Given the description of an element on the screen output the (x, y) to click on. 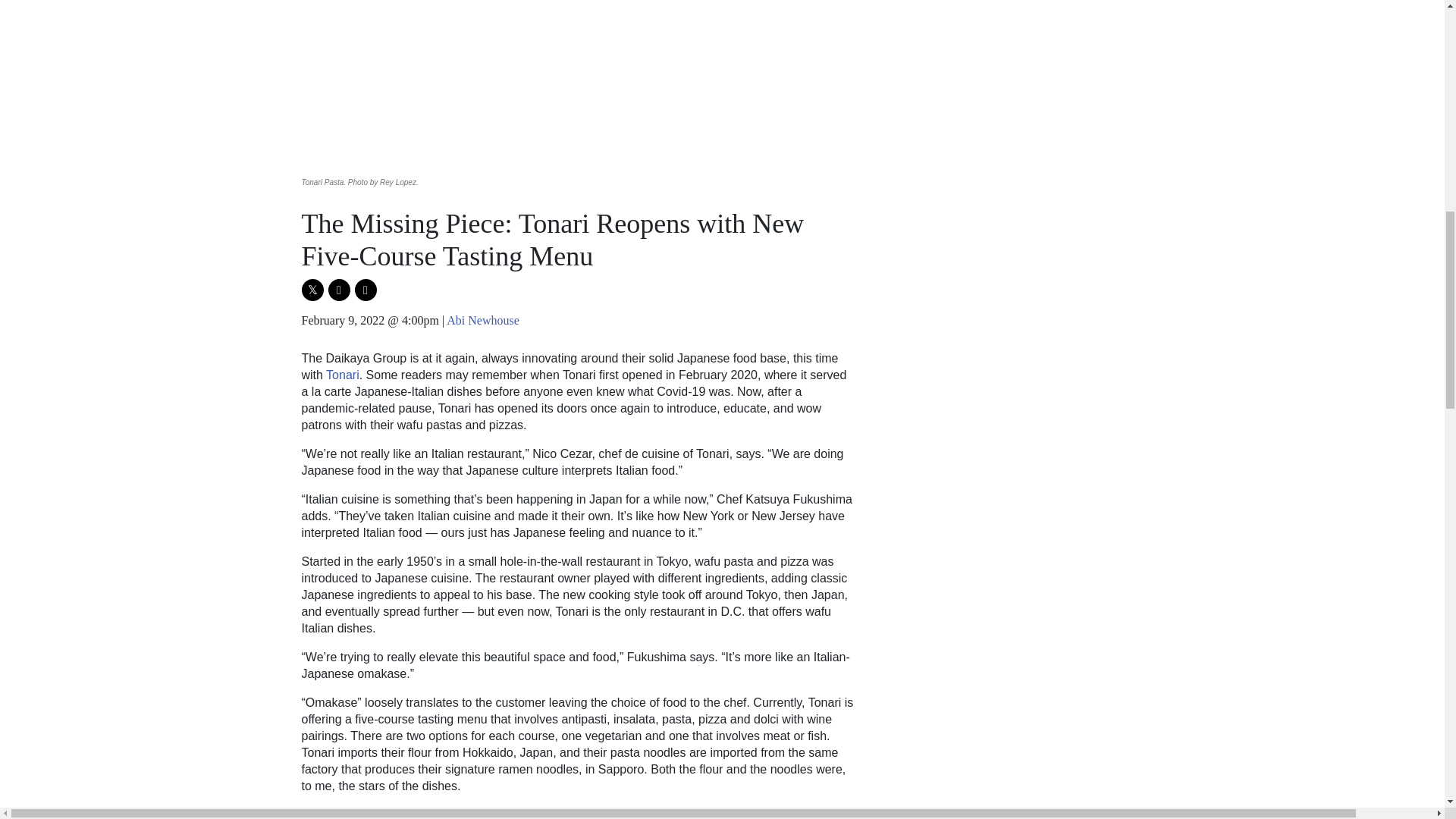
Facebook share (338, 290)
Twitter share (312, 290)
Posts by Abi Newhouse (482, 319)
linkedin Share (366, 290)
